Given the description of an element on the screen output the (x, y) to click on. 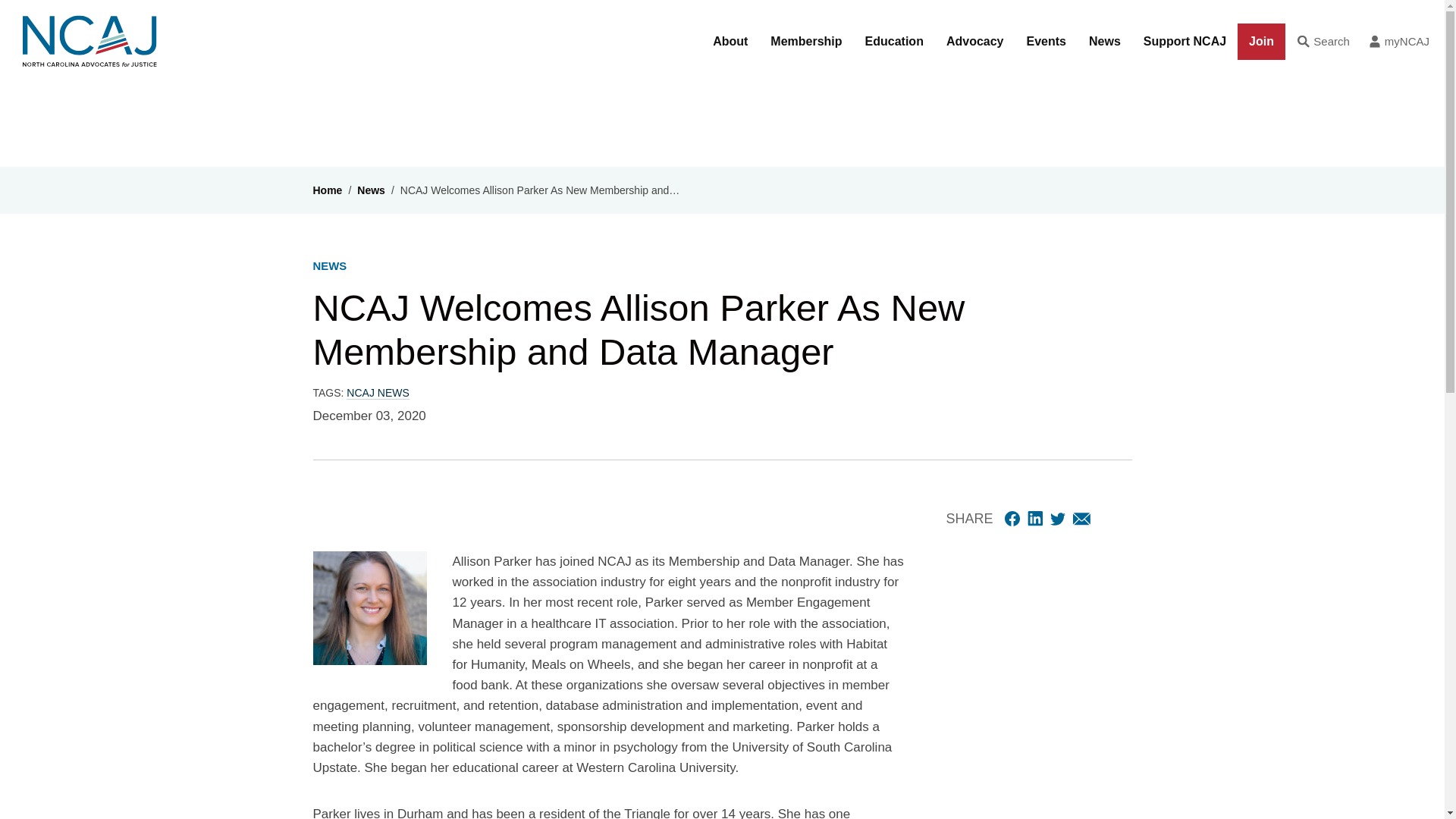
Events (1045, 41)
About (729, 41)
Education (893, 41)
Advocacy (974, 41)
Membership (805, 41)
